Given the description of an element on the screen output the (x, y) to click on. 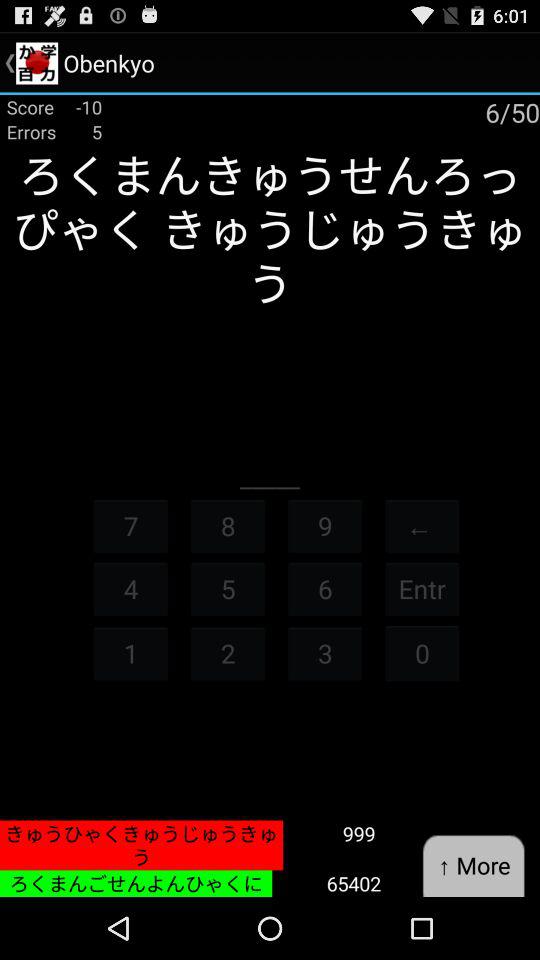
jump to 0 (422, 652)
